Given the description of an element on the screen output the (x, y) to click on. 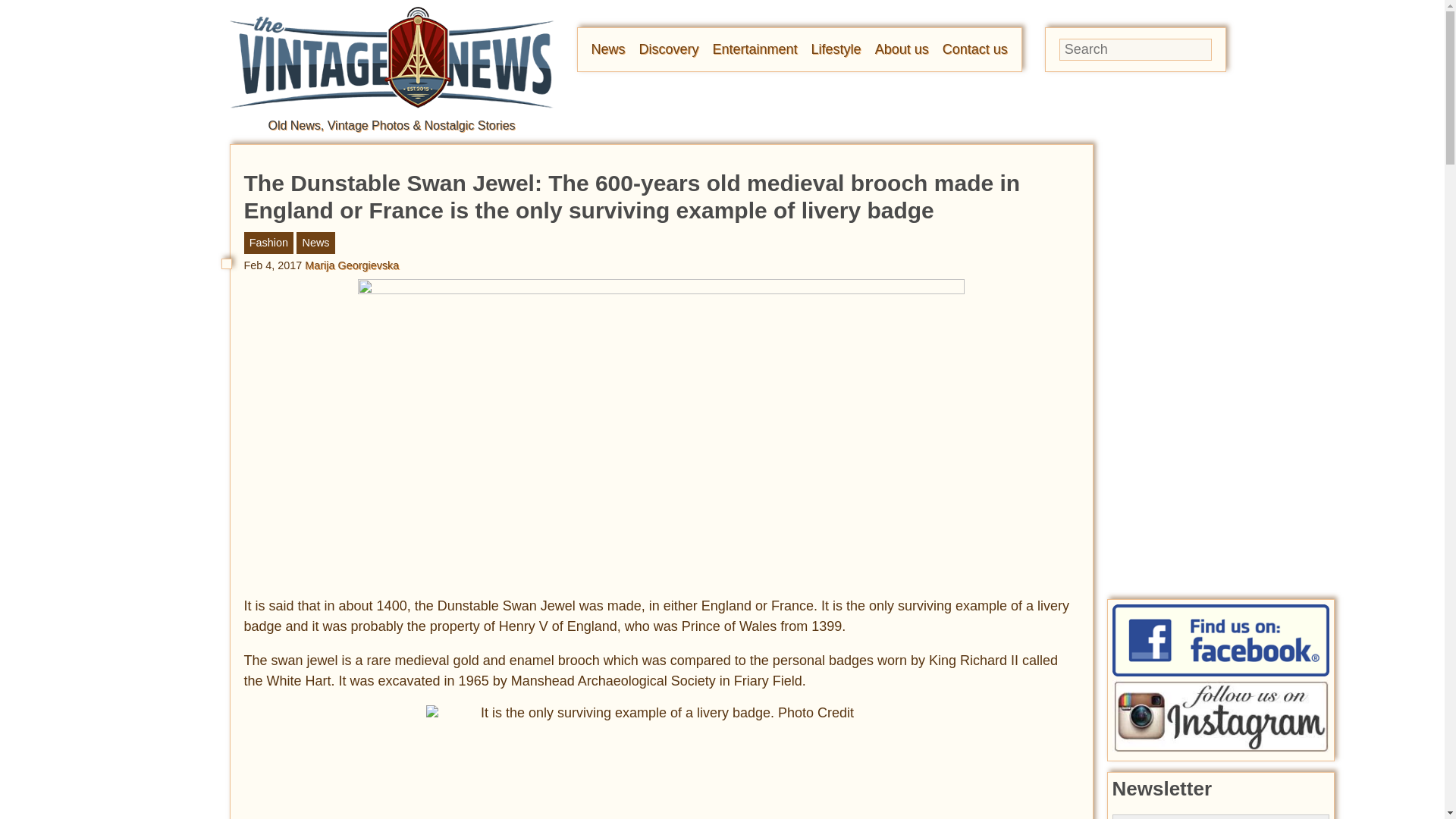
Lifestyle (835, 48)
News (608, 48)
Entertainment (755, 48)
Discovery (668, 48)
About us (901, 48)
Contact us (974, 48)
